Given the description of an element on the screen output the (x, y) to click on. 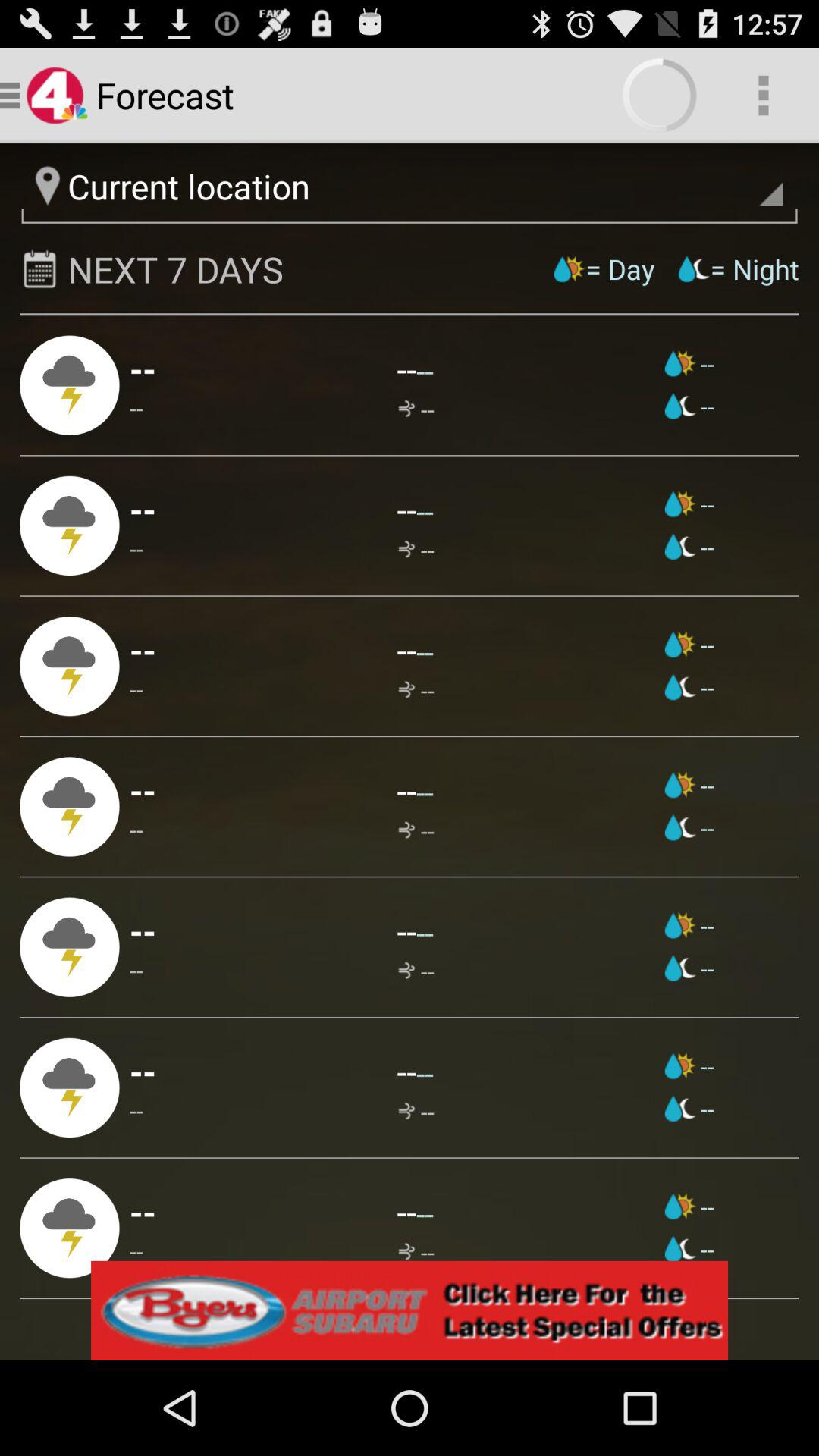
turn off item next to the -- item (689, 1249)
